Given the description of an element on the screen output the (x, y) to click on. 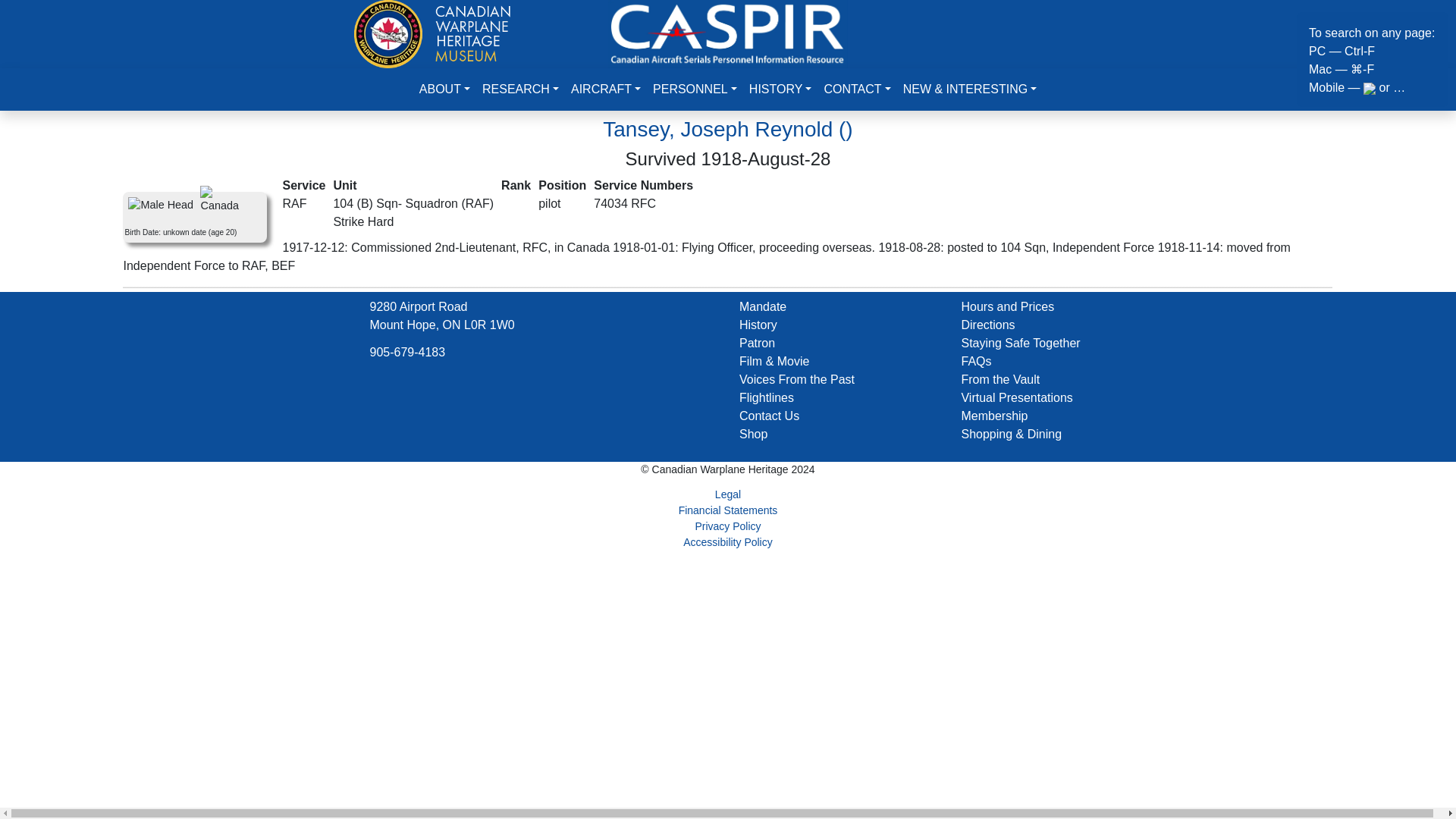
ABOUT (444, 89)
Canada (223, 199)
Return to our Home Page (432, 32)
HISTORY (780, 89)
AIRCRAFT (605, 89)
RESEARCH (520, 89)
PERSONNEL (694, 89)
Refresh Page (727, 32)
